Given the description of an element on the screen output the (x, y) to click on. 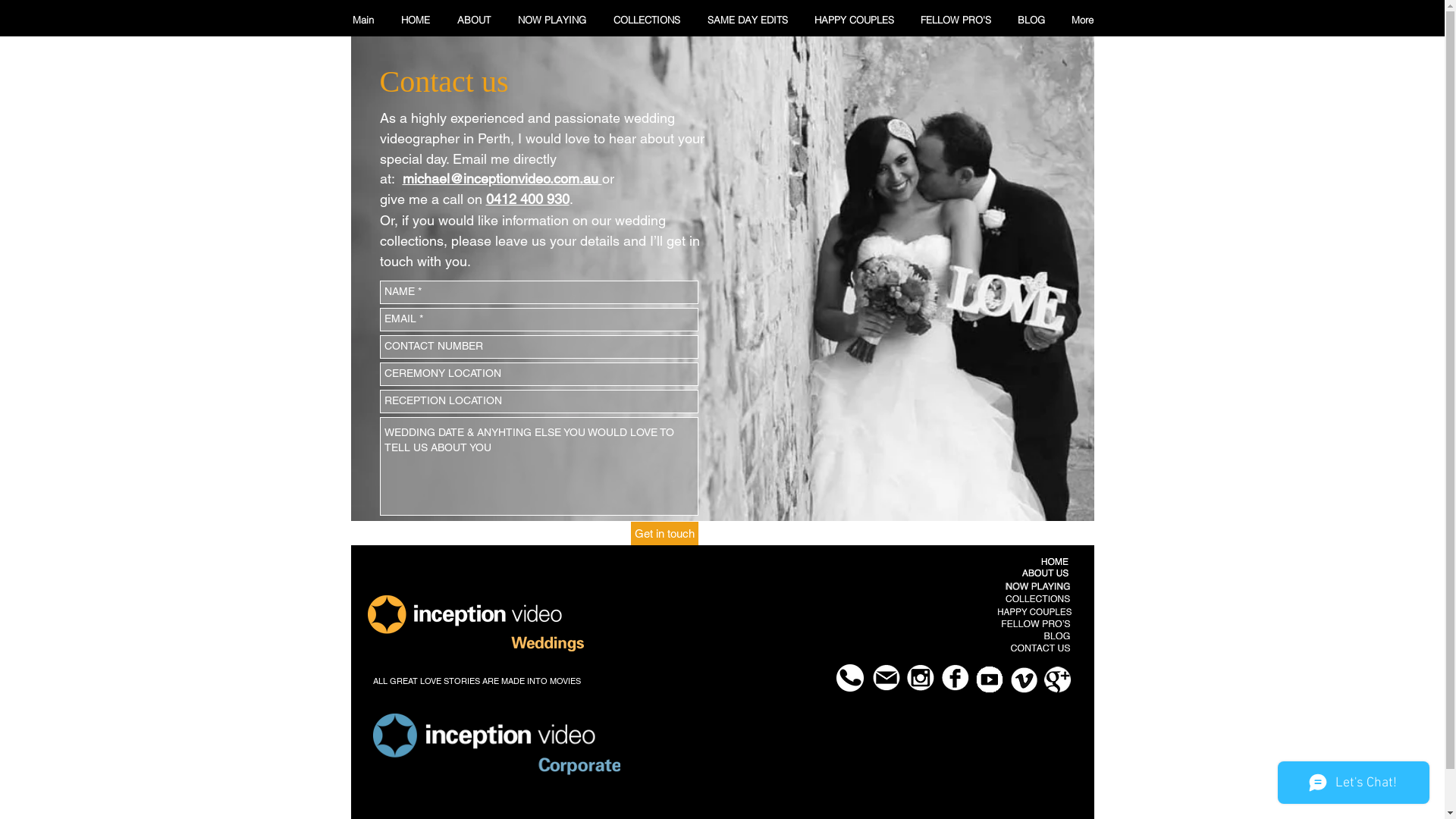
FELLOW PRO'S Element type: text (955, 19)
HAPPY COUPLES Element type: text (853, 19)
ABOUT Element type: text (472, 19)
COLLECTIONS Element type: text (646, 19)
HOME Element type: text (414, 19)
wedding logo_white_yellow.png Element type: hover (475, 623)
michael@inceptionvideo.com.au Element type: text (501, 178)
Get in touch Element type: text (664, 533)
BLOG Element type: text (1030, 19)
SAME DAY EDITS Element type: text (746, 19)
Kemp-1024x576_grey(v2).jpg Element type: hover (721, 278)
0412 400 930 Element type: text (526, 199)
Main Element type: text (362, 19)
NOW PLAYING Element type: text (551, 19)
